Given the description of an element on the screen output the (x, y) to click on. 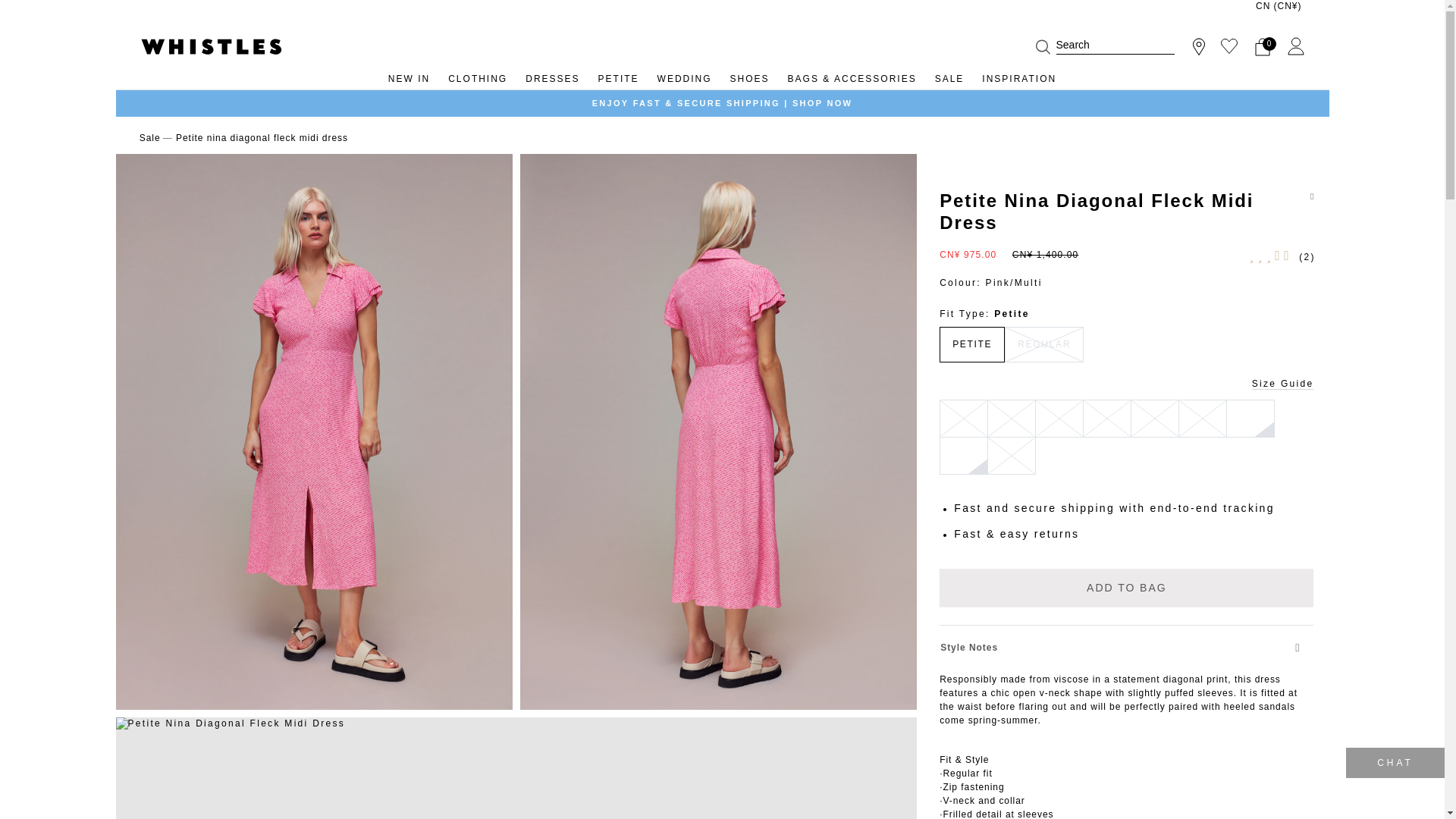
Whistles Home (210, 46)
View Bag (1261, 46)
NEW IN (408, 81)
0 (1261, 46)
